Given the description of an element on the screen output the (x, y) to click on. 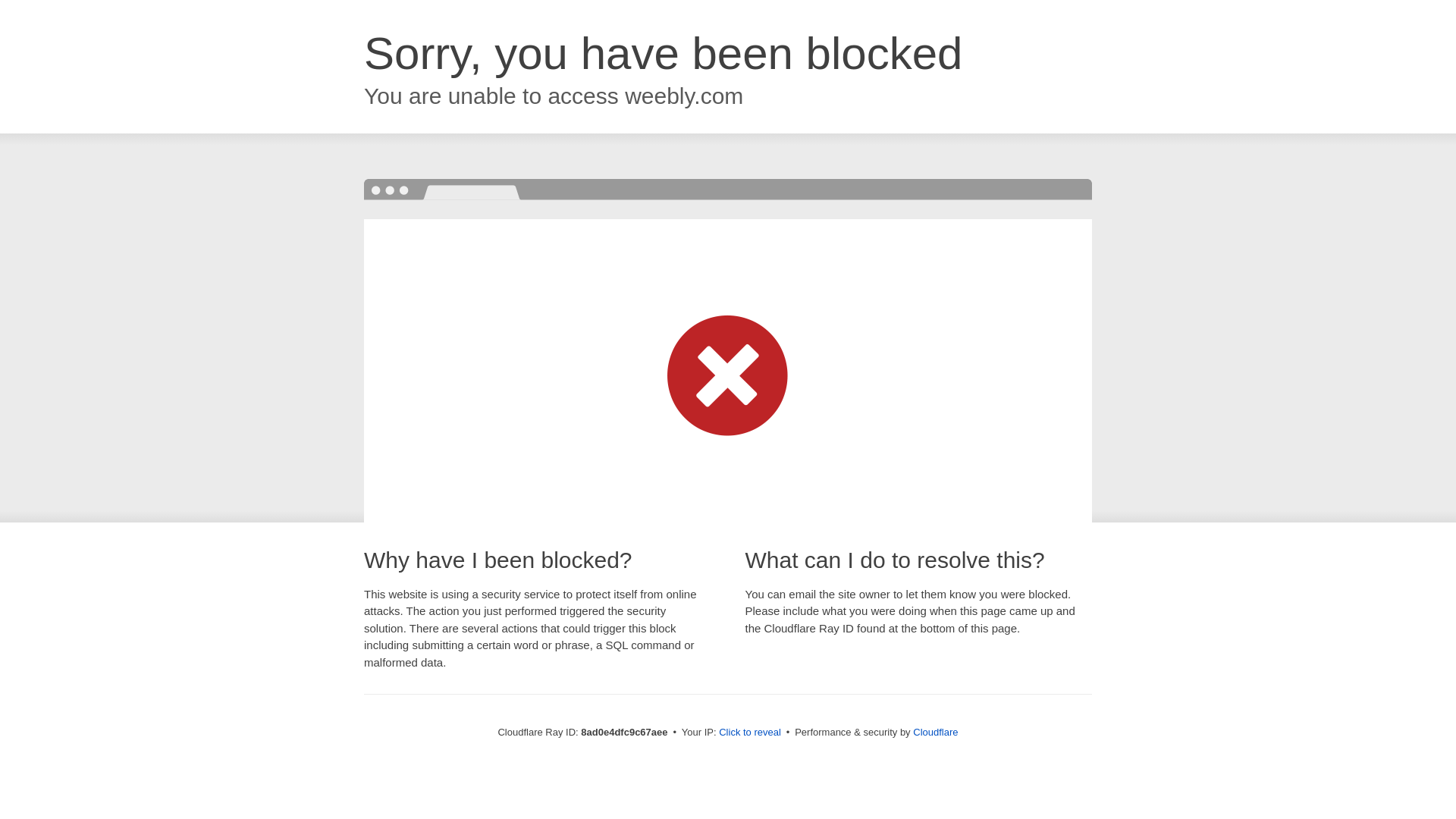
Click to reveal (749, 732)
Cloudflare (935, 731)
